Given the description of an element on the screen output the (x, y) to click on. 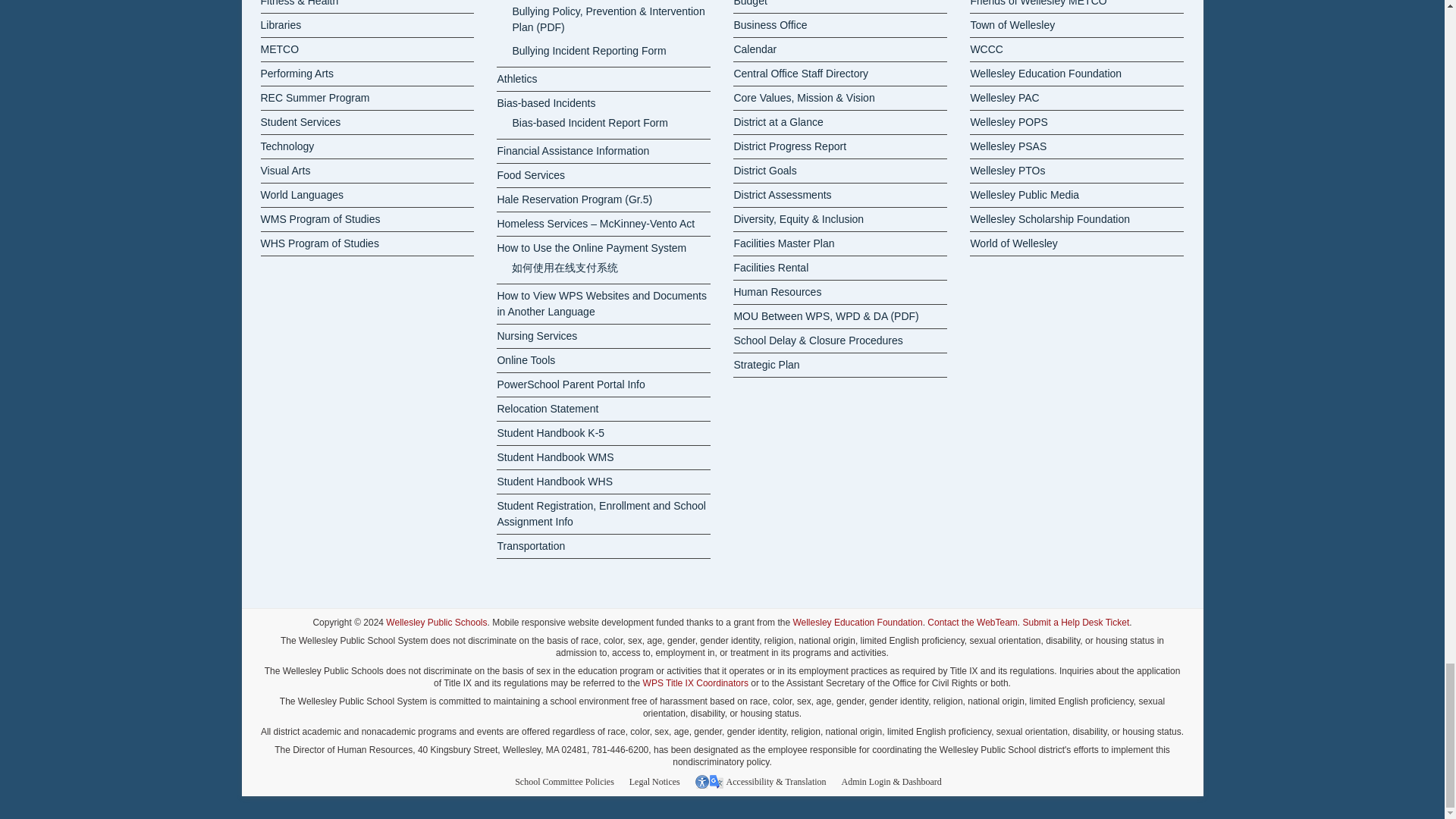
Wellesley Public Schools (435, 622)
